Given the description of an element on the screen output the (x, y) to click on. 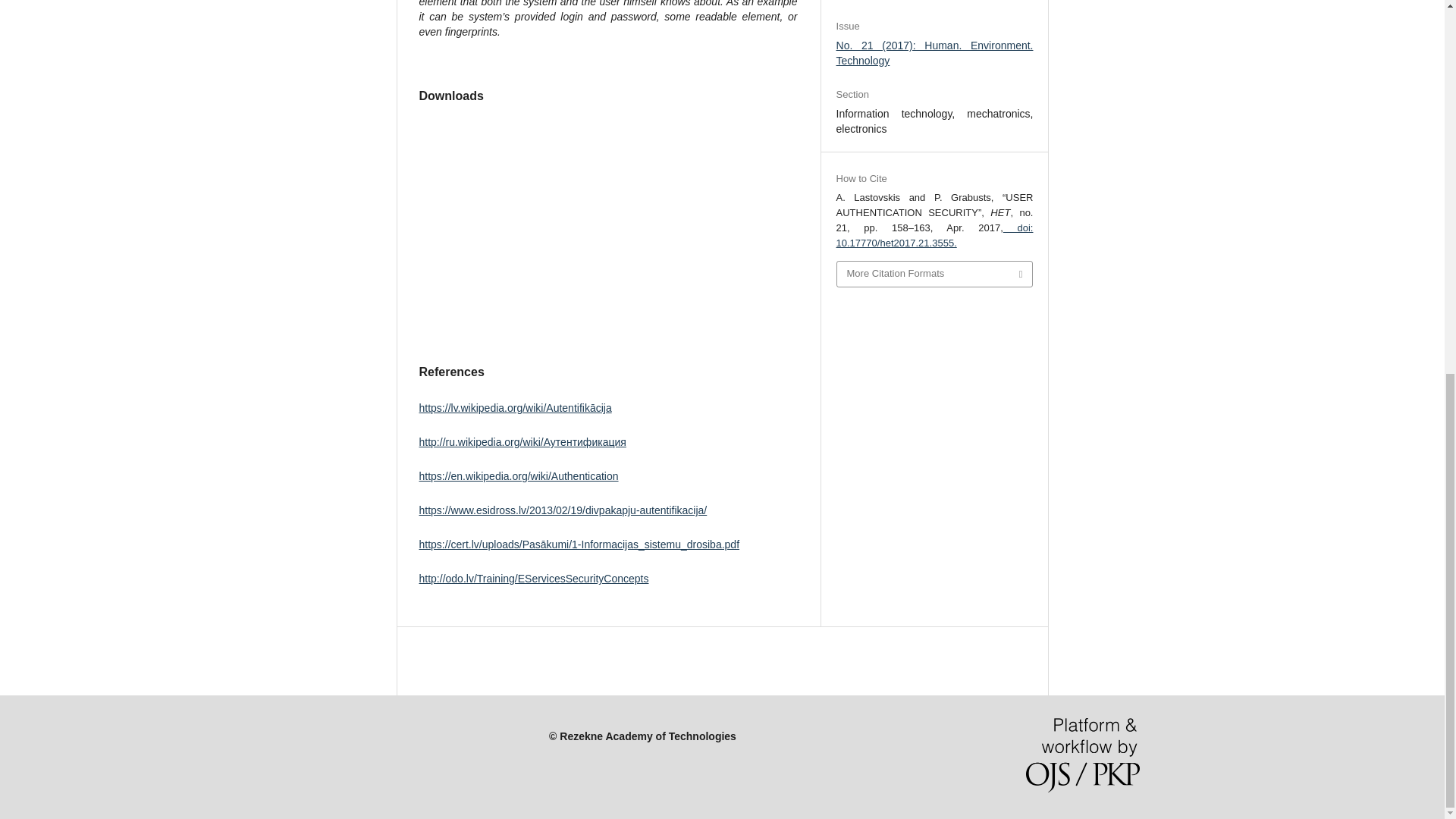
More Citation Formats (934, 273)
